Given the description of an element on the screen output the (x, y) to click on. 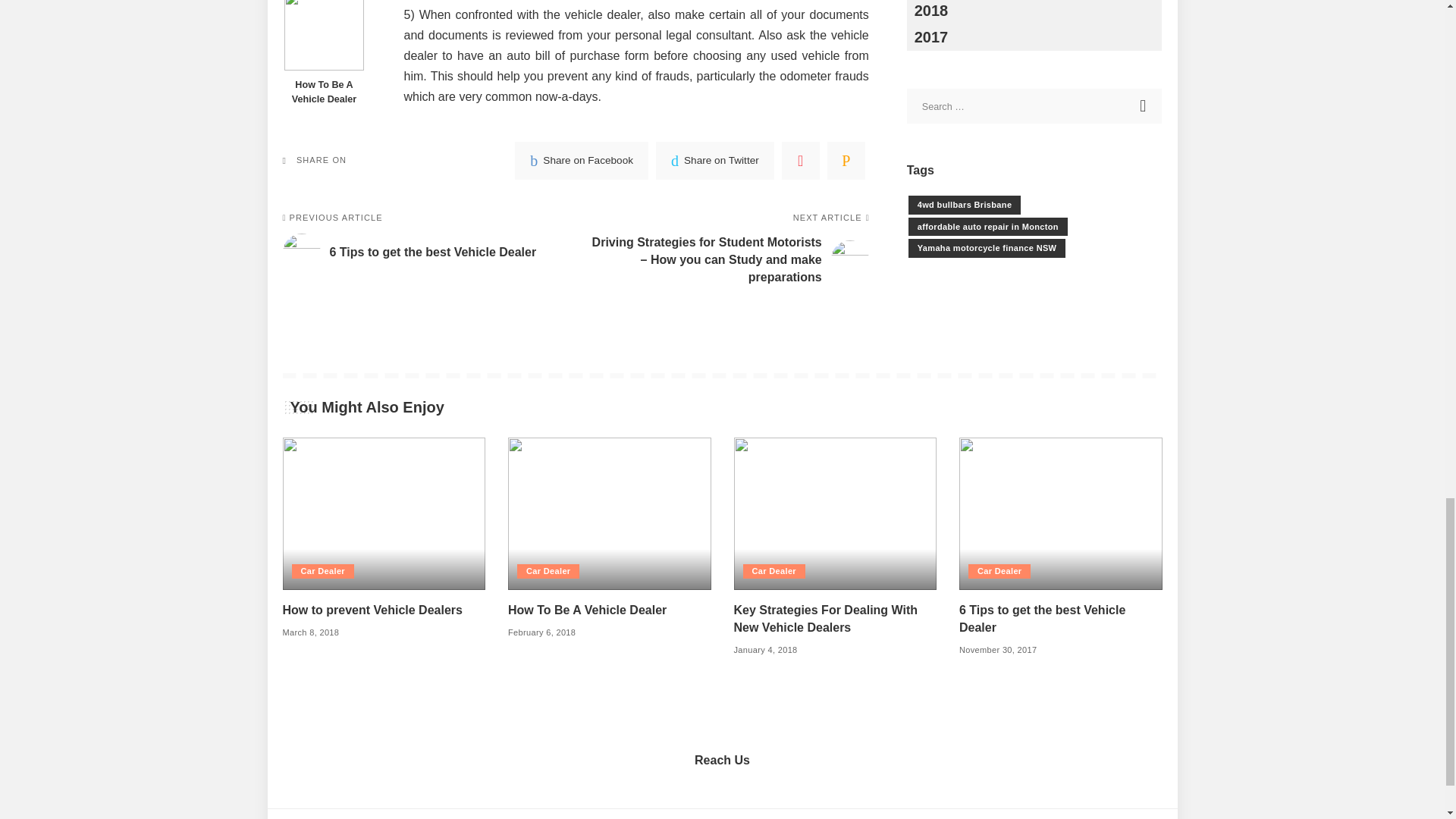
Share on Facebook (581, 160)
Search (1143, 105)
Share on Twitter (715, 160)
Search (1143, 105)
